Given the description of an element on the screen output the (x, y) to click on. 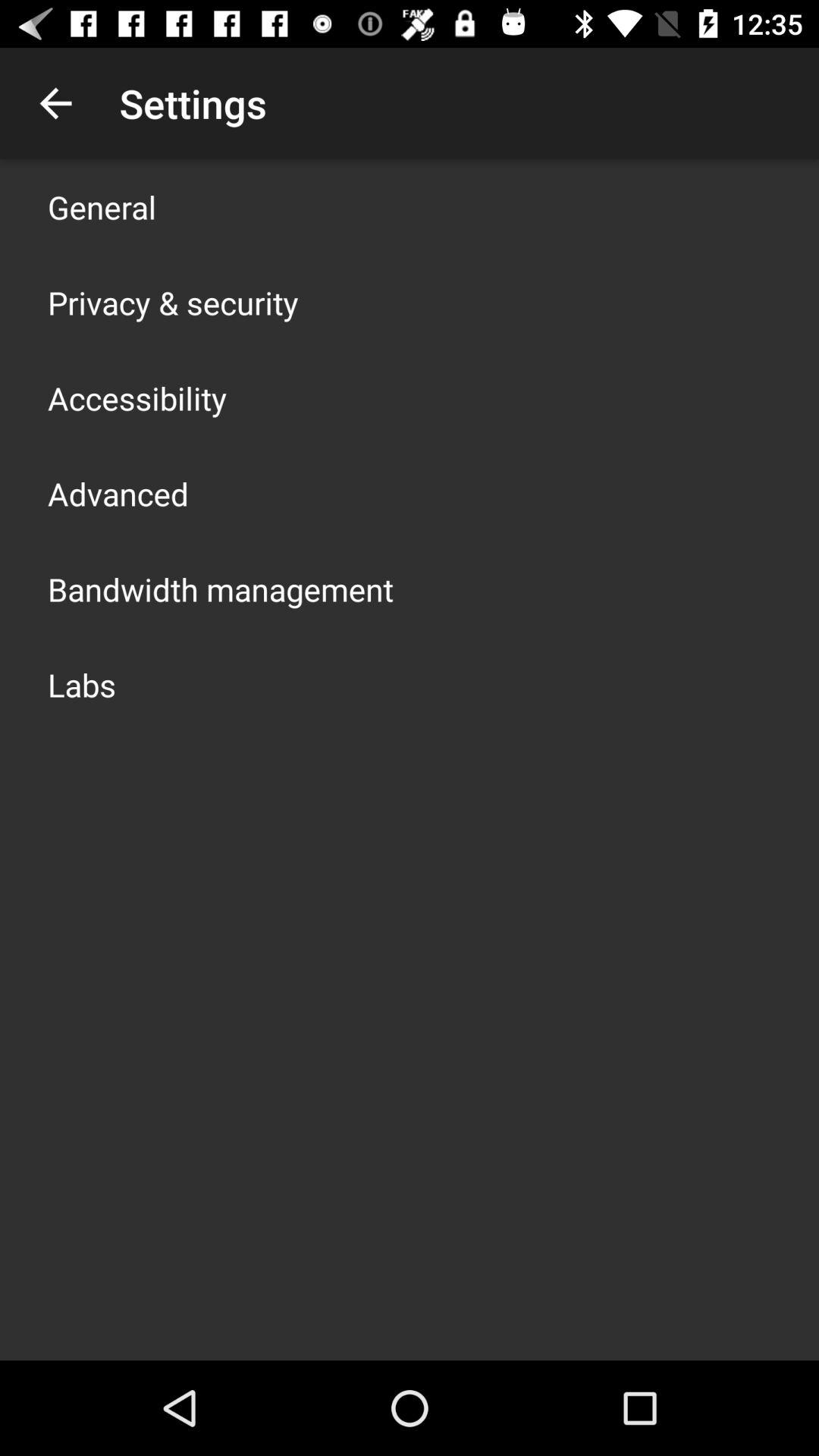
open app below advanced (220, 588)
